Given the description of an element on the screen output the (x, y) to click on. 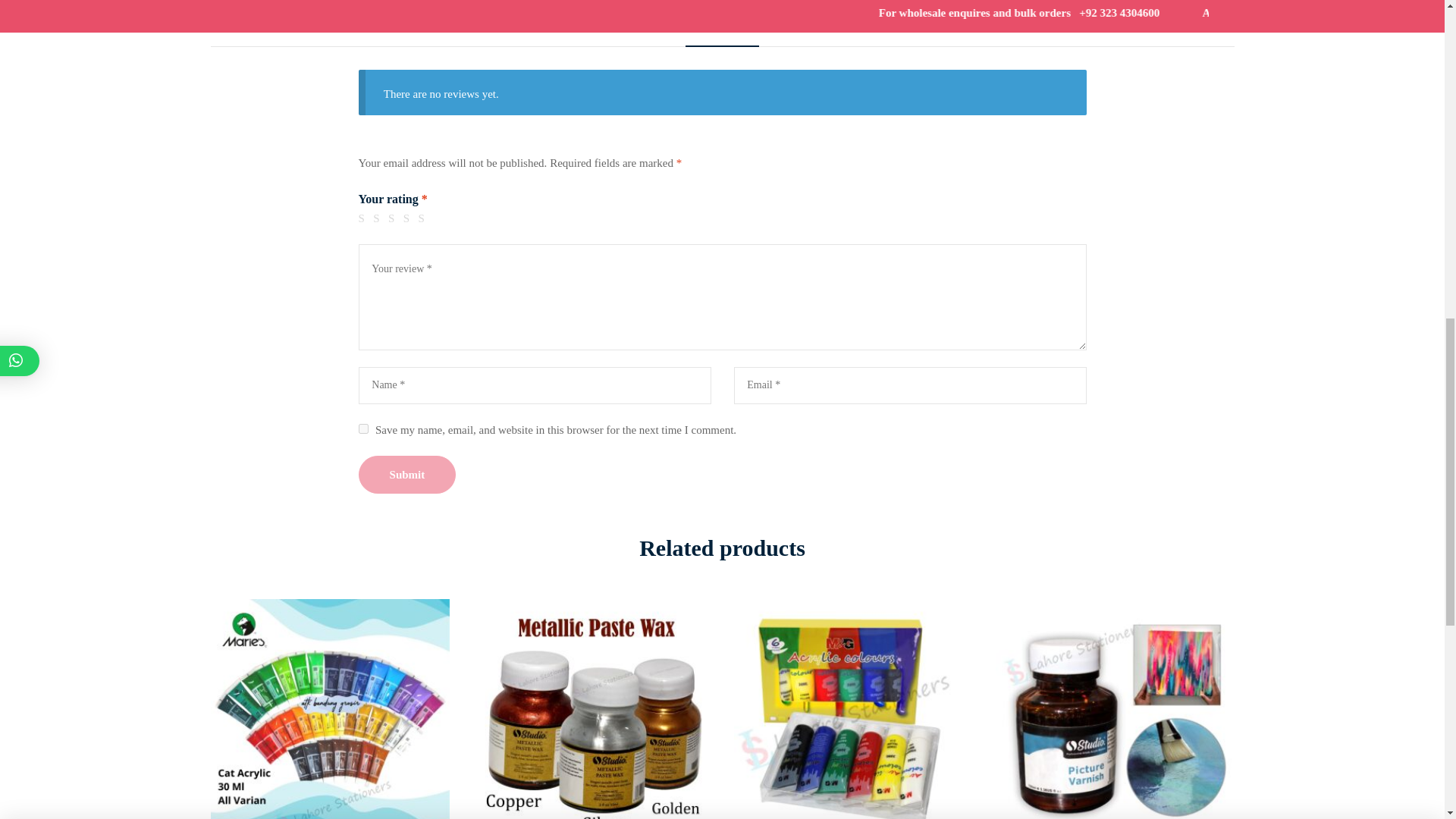
Submit (406, 474)
yes (363, 429)
